Given the description of an element on the screen output the (x, y) to click on. 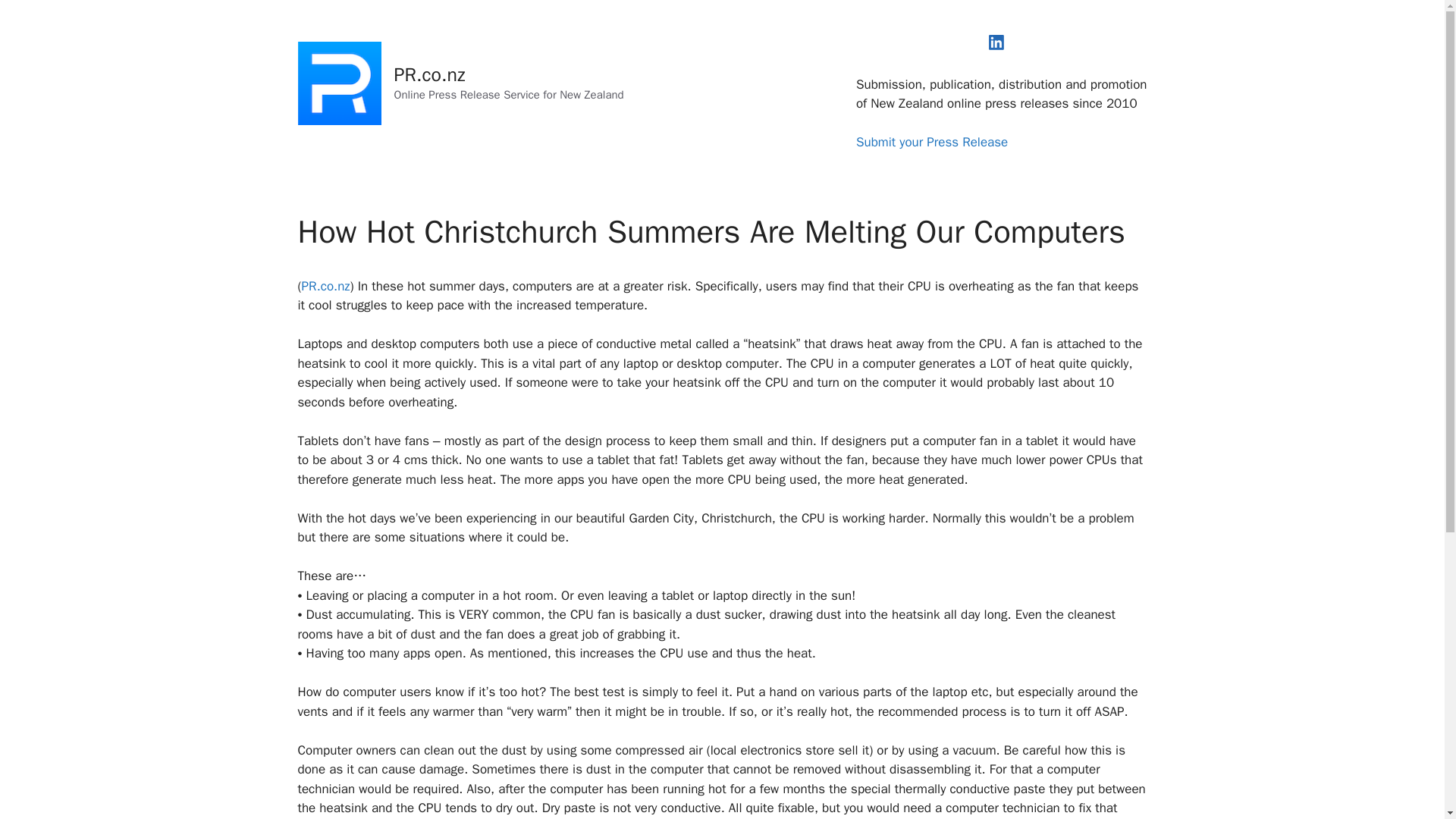
Submit your Press Release (931, 141)
PR.co.nz (429, 74)
LinkedIn (996, 42)
PR.co.nz (325, 286)
